Given the description of an element on the screen output the (x, y) to click on. 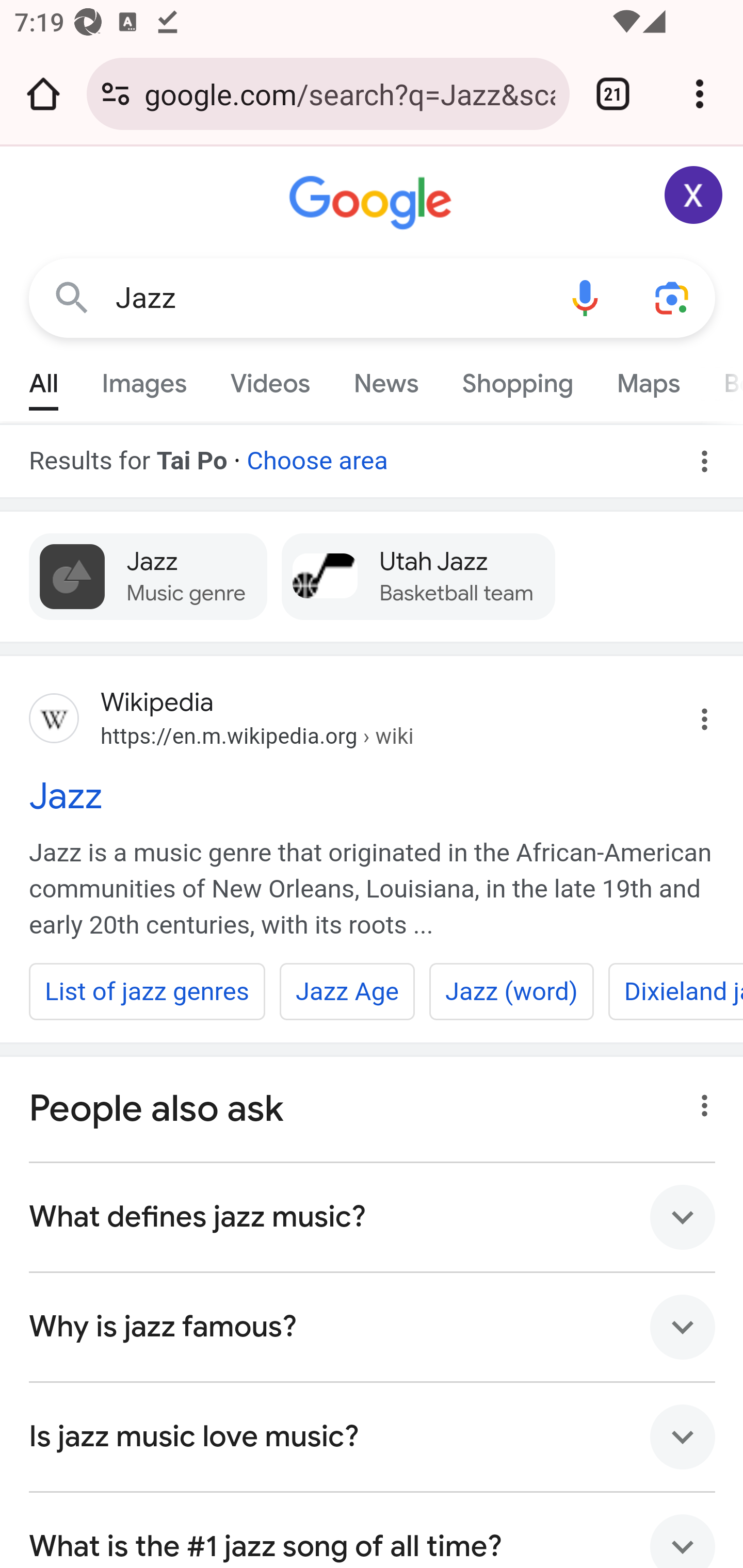
Open the home page (43, 93)
Connection is secure (115, 93)
Switch or close tabs (612, 93)
Customize and control Google Chrome (699, 93)
Google (372, 203)
Google Account: Xiaoran (zxrappiumtest@gmail.com) (694, 195)
Google Search (71, 296)
Search using your camera or photos (672, 296)
Jazz (328, 297)
Images (144, 378)
Videos (270, 378)
News (385, 378)
Shopping (516, 378)
Maps (647, 378)
Choose area (316, 453)
Jazz Music genre Jazz Music genre (148, 575)
Jazz (372, 795)
List of jazz genres (147, 991)
Jazz Age (346, 991)
Jazz (word) (510, 991)
Dixieland jazz (675, 991)
About this result (698, 1099)
What defines jazz music? (372, 1217)
Why is jazz famous? (372, 1327)
Is jazz music love music? (372, 1437)
What is the #1 jazz song of all time? (372, 1529)
